Given the description of an element on the screen output the (x, y) to click on. 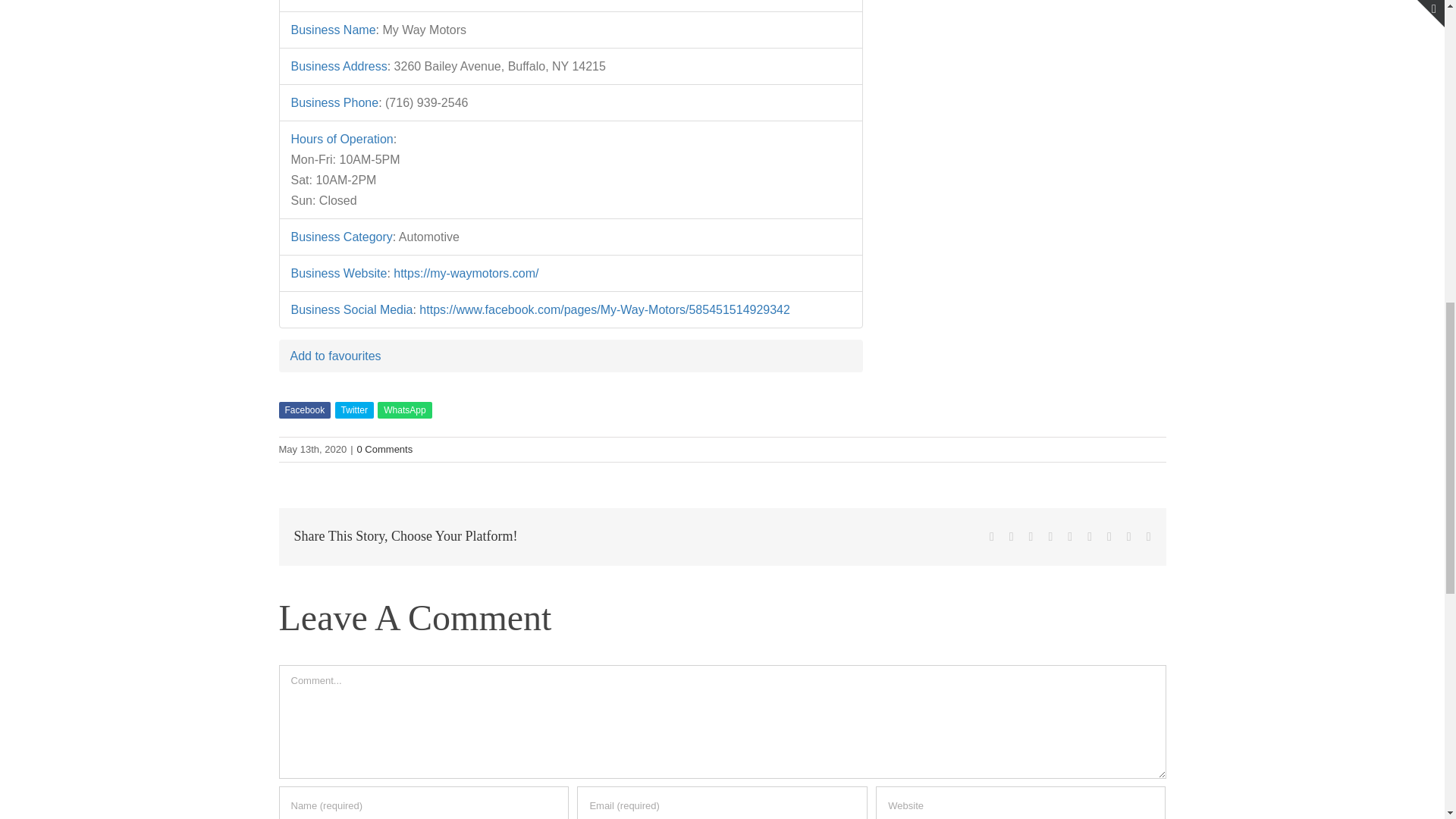
0 Comments (384, 449)
Add to favourites (334, 355)
Facebook (305, 410)
WhatsApp (403, 410)
Twitter (354, 410)
